Given the description of an element on the screen output the (x, y) to click on. 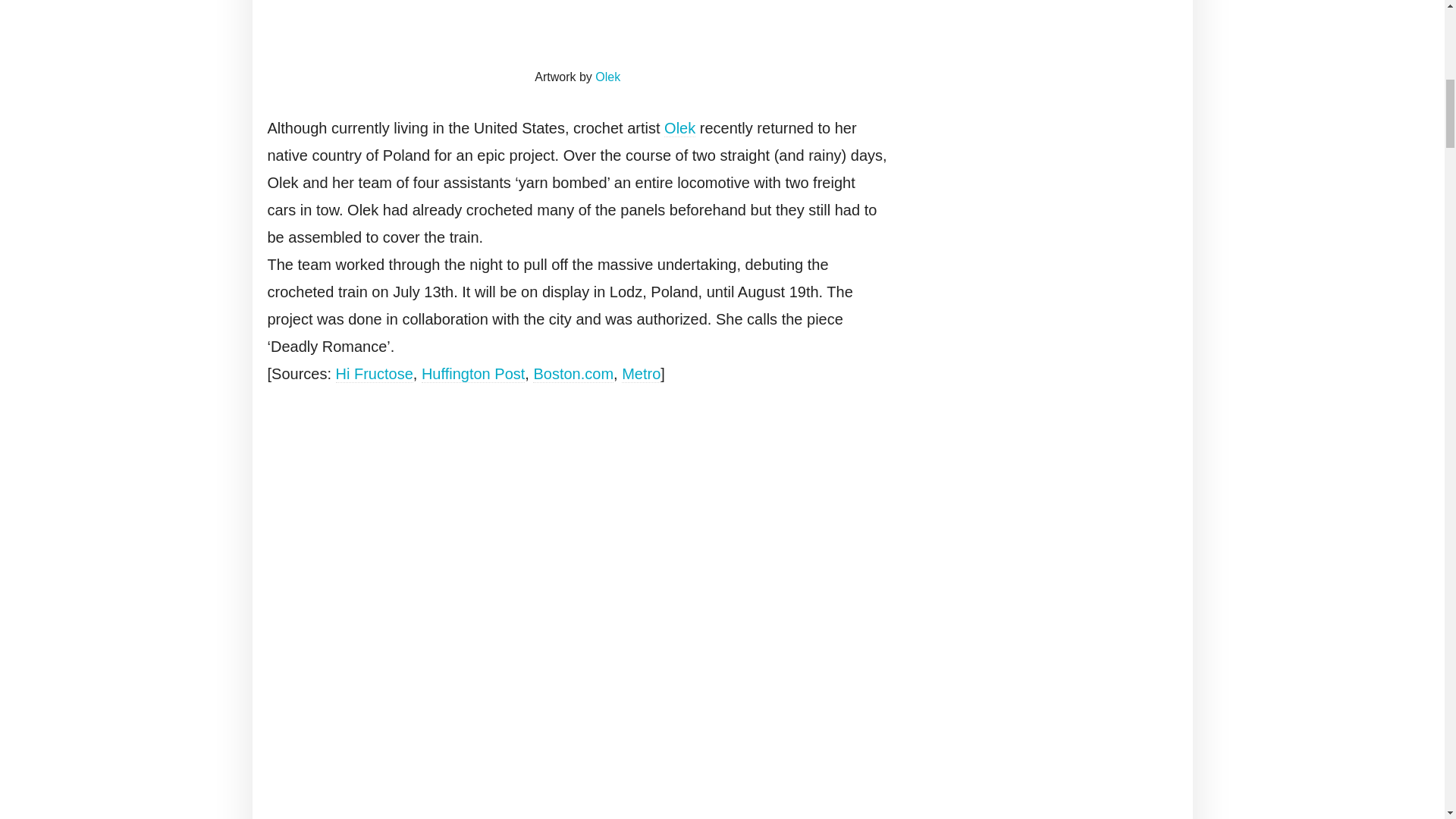
Olek (679, 128)
Huffington Post (473, 374)
Olek (607, 76)
Crocheting a Locomotive in Lodz, Poland (577, 29)
Boston.com (572, 374)
Metro (641, 374)
Hi Fructose (374, 374)
